Given the description of an element on the screen output the (x, y) to click on. 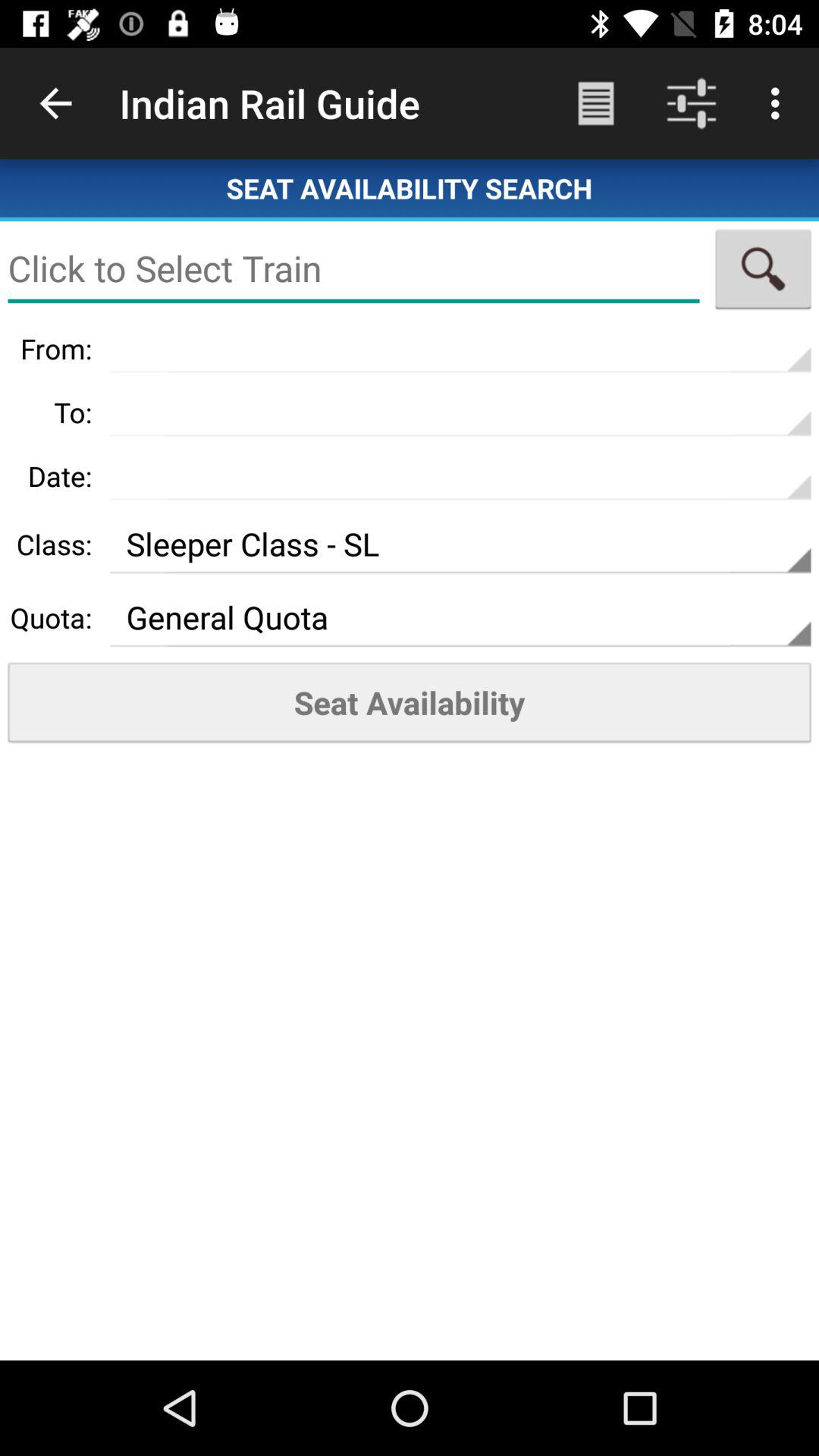
search (763, 268)
